Given the description of an element on the screen output the (x, y) to click on. 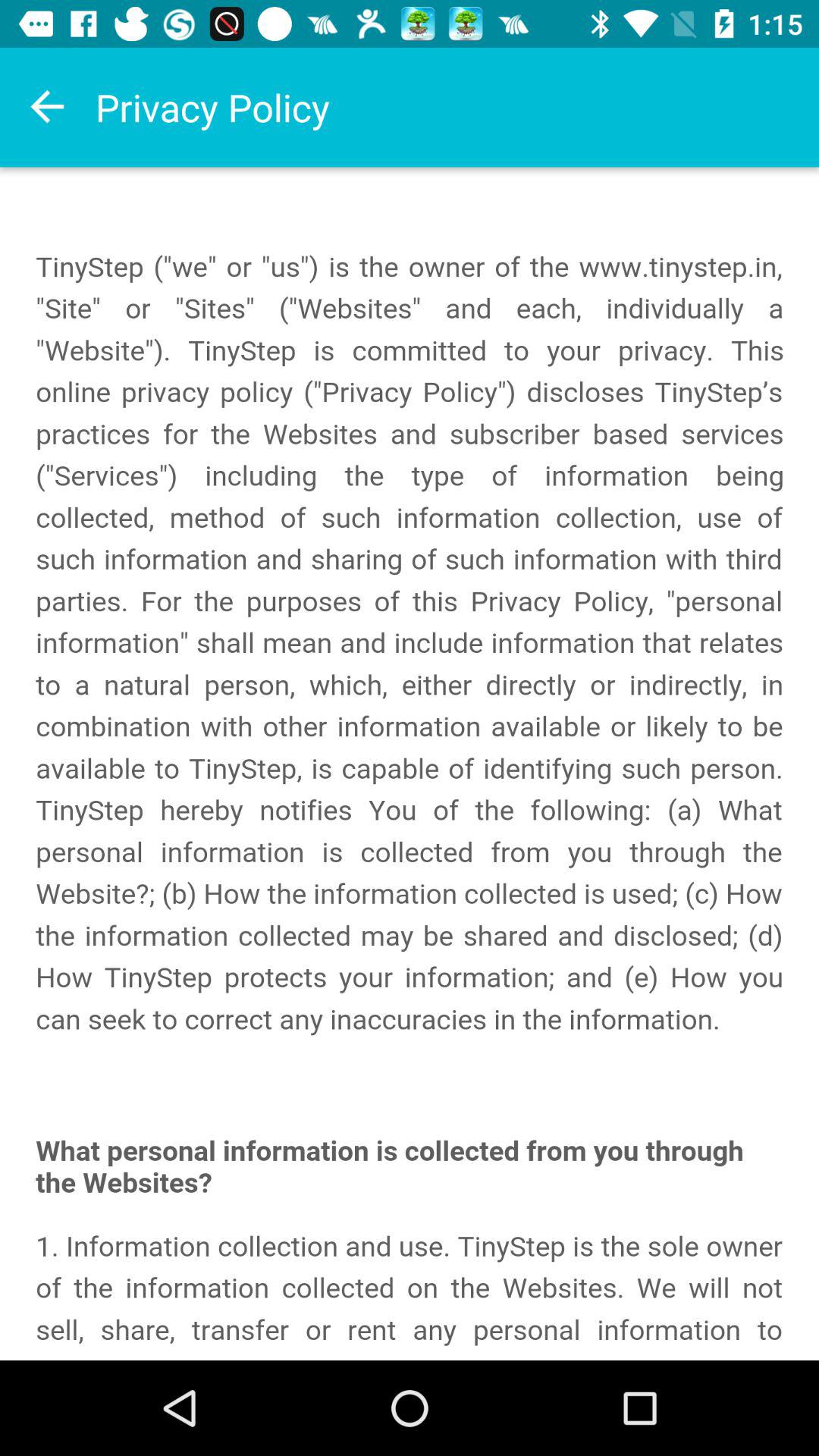
backword the option (47, 107)
